Given the description of an element on the screen output the (x, y) to click on. 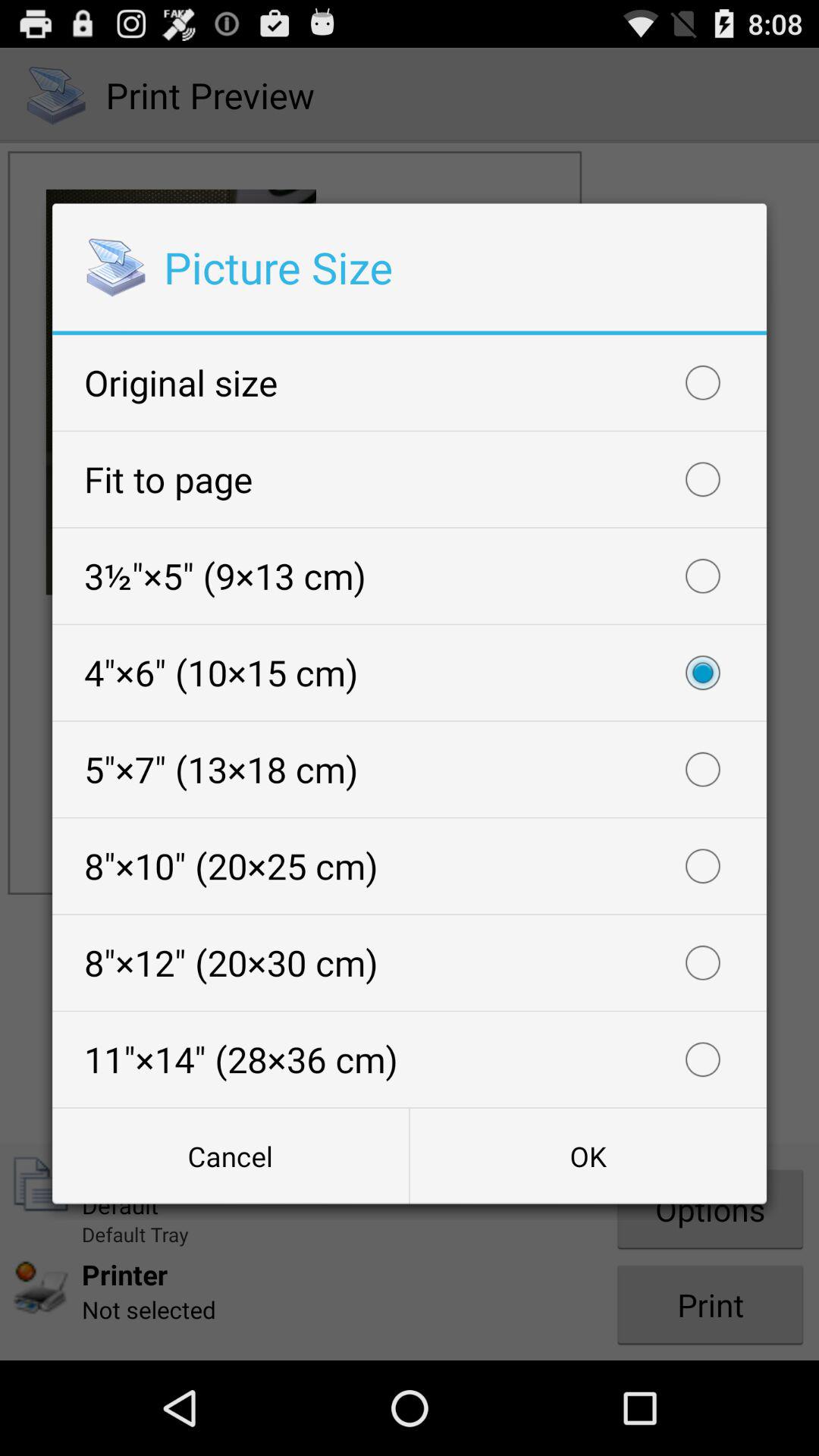
press the item to the right of cancel (588, 1156)
